Given the description of an element on the screen output the (x, y) to click on. 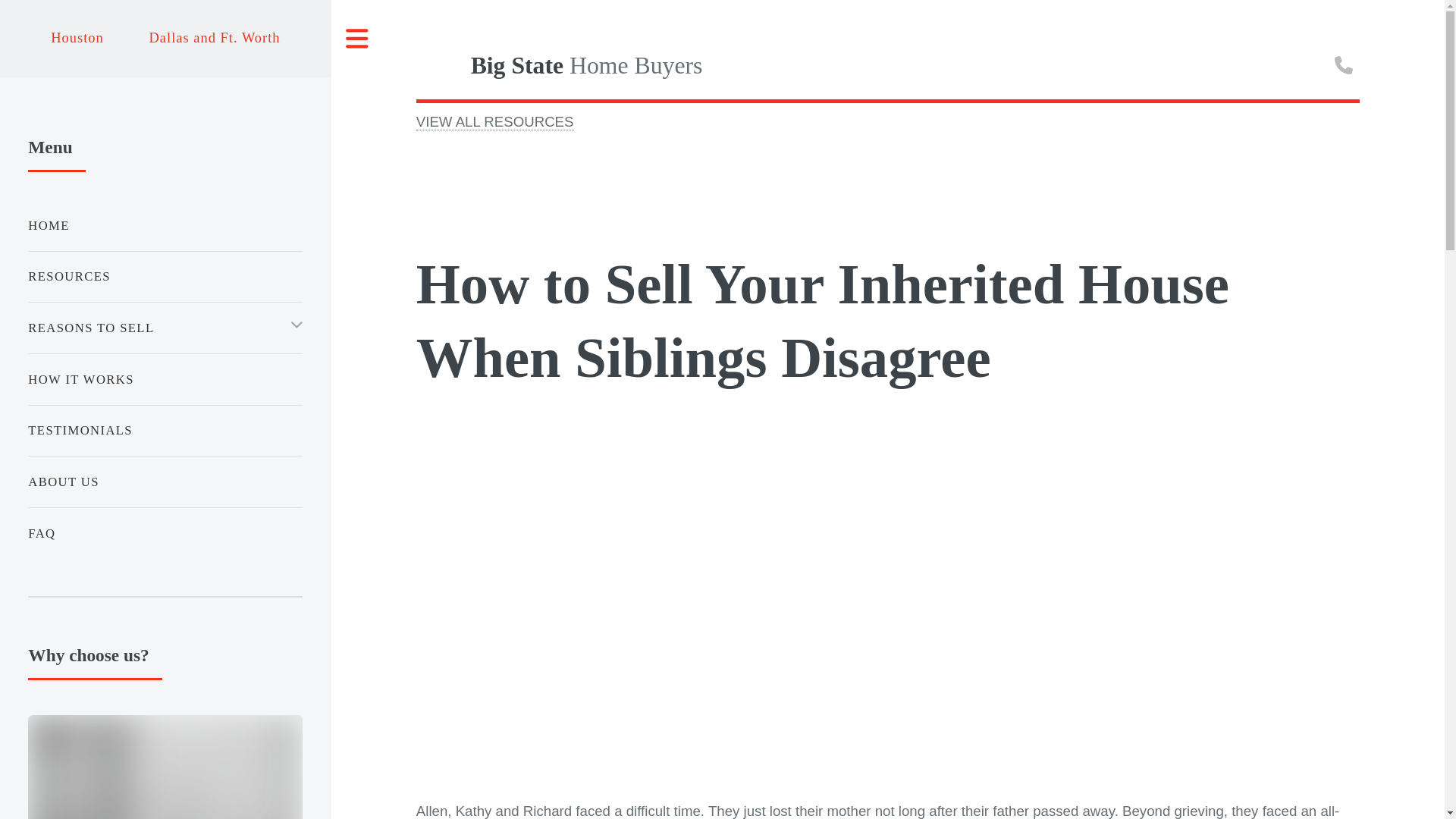
ABOUT US (164, 482)
FAQ (164, 533)
Houston (76, 37)
VIEW ALL RESOURCES (494, 121)
Dallas and Ft. Worth (213, 37)
HOME (164, 225)
RESOURCES (164, 276)
Big State Home Buyers (874, 65)
Call now (1345, 62)
TESTIMONIALS (164, 430)
HOW IT WORKS (164, 379)
Call now (1343, 65)
